Given the description of an element on the screen output the (x, y) to click on. 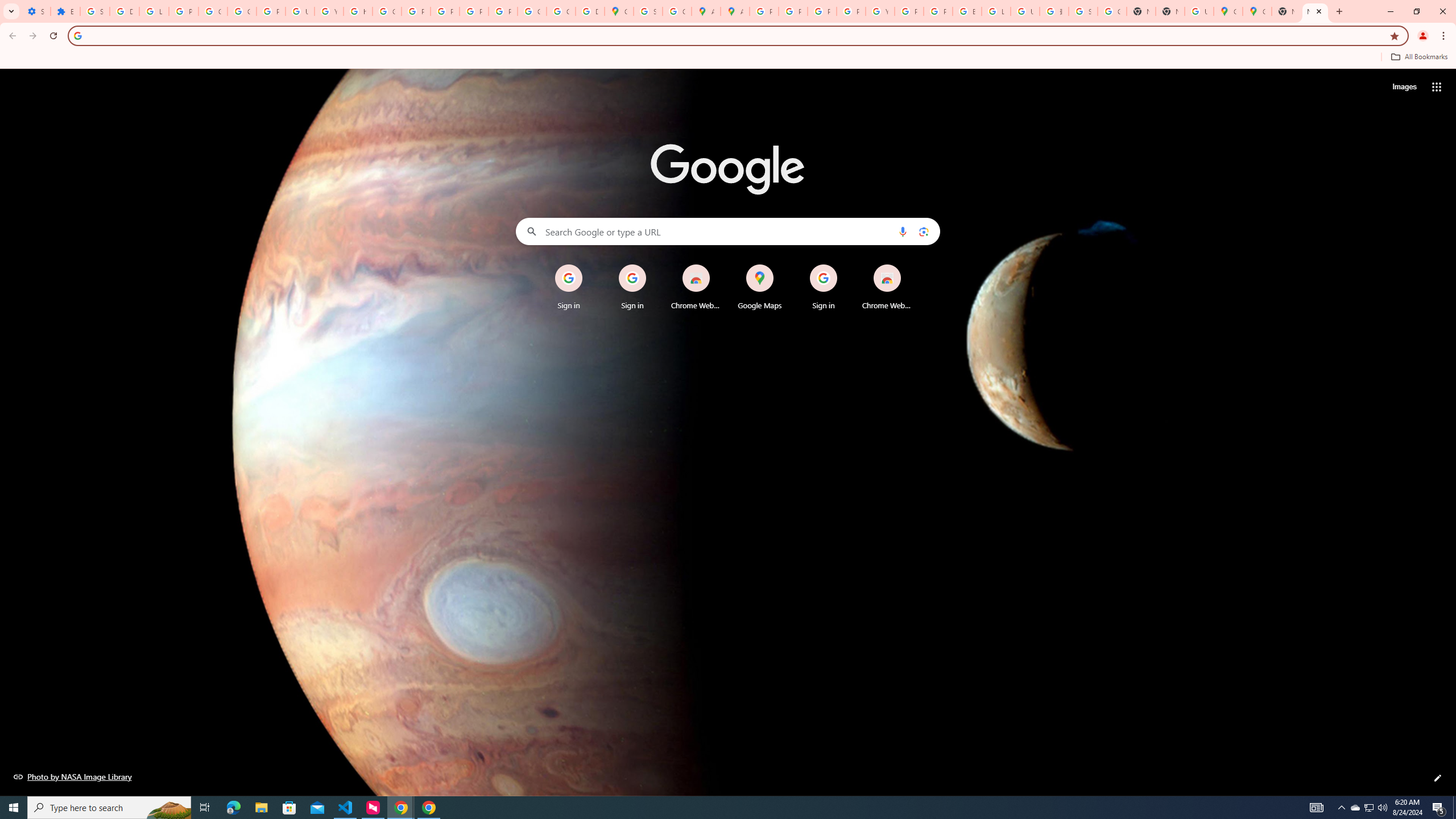
Learn how to find your photos - Google Photos Help (153, 11)
Chrome Web Store (887, 287)
Customize this page (1437, 778)
Policy Accountability and Transparency - Transparency Center (763, 11)
YouTube (879, 11)
